Given the description of an element on the screen output the (x, y) to click on. 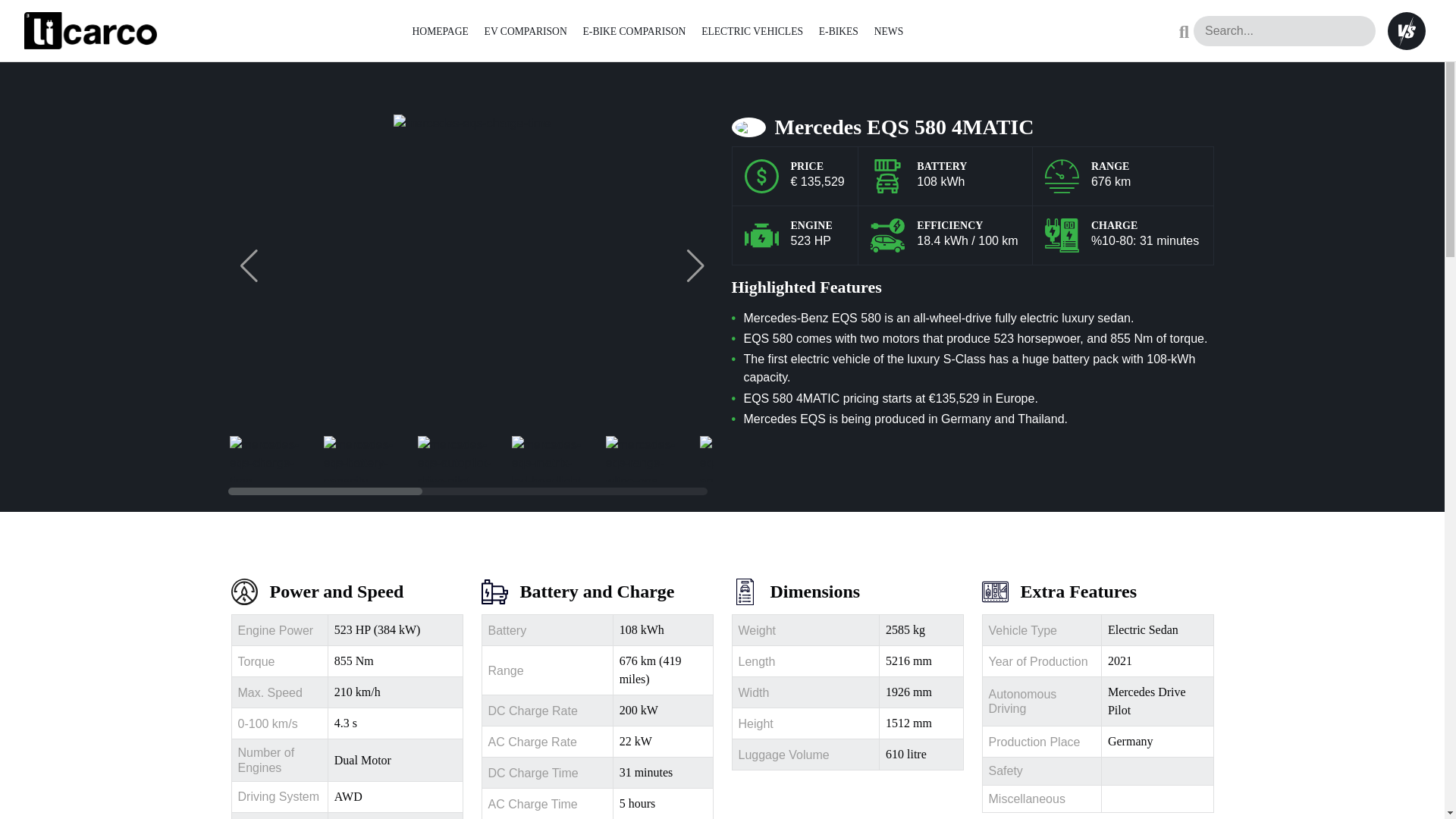
NEWS (889, 30)
mercedes-eqs-battery-capacity (360, 458)
mercedes-eqs-interior-glass-roof (831, 458)
HOMEPAGE (440, 30)
mercedes-eqs-matrix-led-headlight (548, 458)
mercedes-eqs-autopilot-drive-pilot (454, 458)
mercedes-eqs-charge-time (266, 458)
mercedes-eqs-aerodynamic-efficiency (736, 458)
EV COMPARISON (525, 30)
ELECTRIC VEHICLES (752, 30)
E-BIKES (838, 30)
mercedes-eqs-range-wltpe-epa (643, 458)
E-BIKE COMPARISON (634, 30)
